Given the description of an element on the screen output the (x, y) to click on. 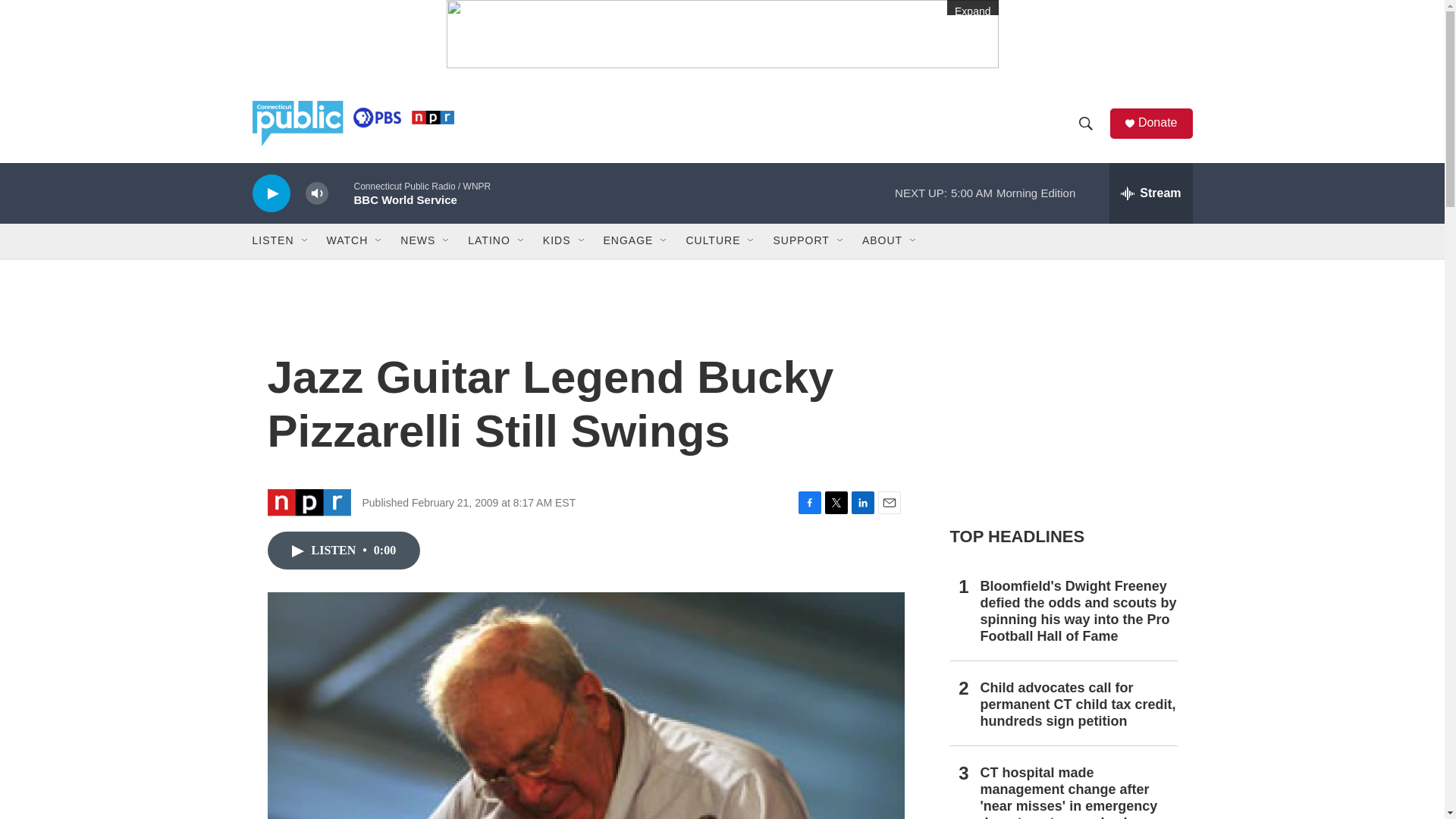
3rd party ad content (1062, 400)
Expand (721, 33)
